Given the description of an element on the screen output the (x, y) to click on. 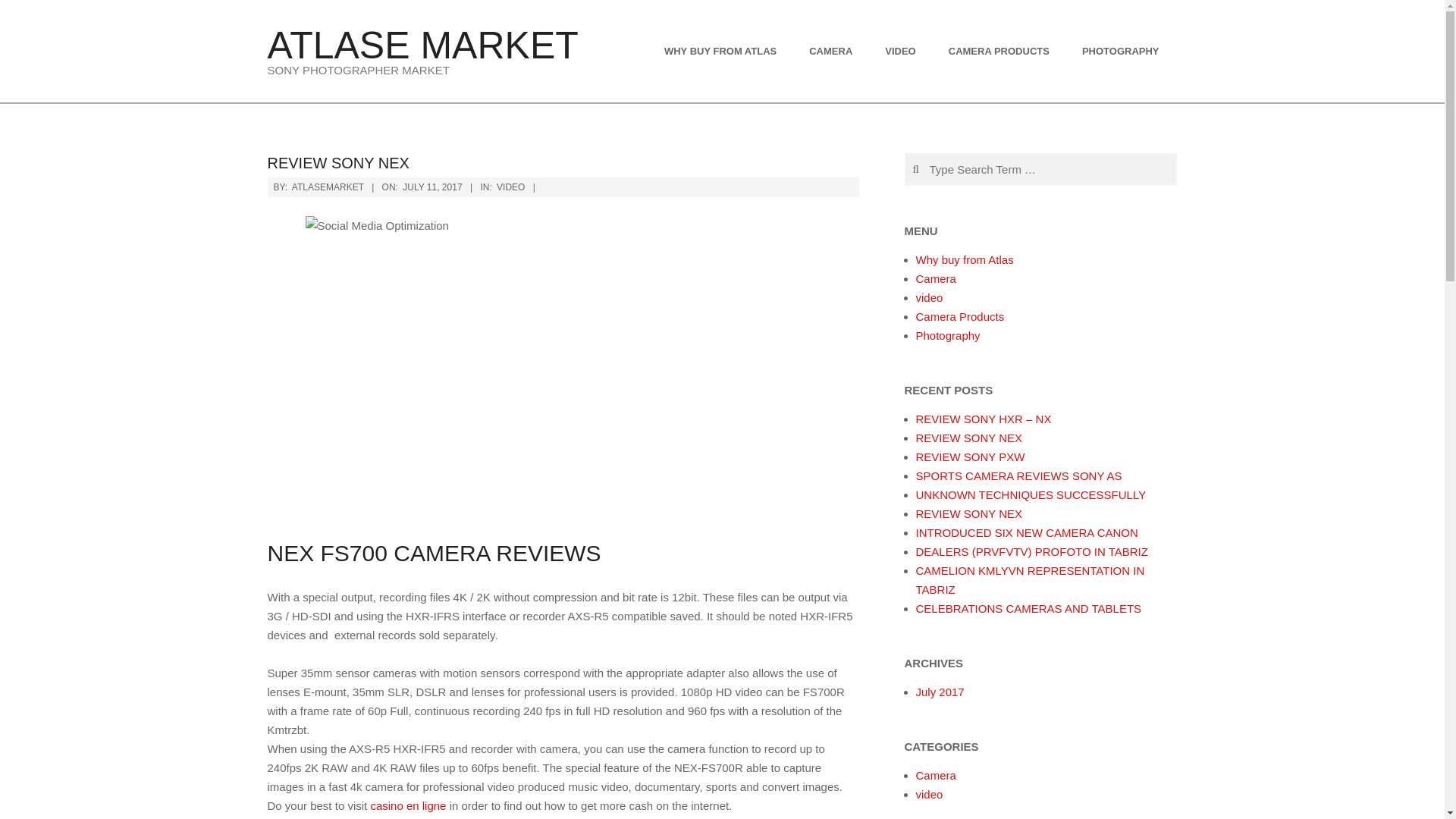
casino en ligne (407, 805)
VIDEO (901, 50)
CAMERA (832, 50)
SPORTS CAMERA REVIEWS SONY AS (1018, 475)
Why buy from Atlas (964, 259)
Posts by atlasemarket (328, 186)
PHOTOGRAPHY (1122, 50)
Camera (935, 775)
REVIEW SONY NEX (969, 513)
video (929, 297)
